Given the description of an element on the screen output the (x, y) to click on. 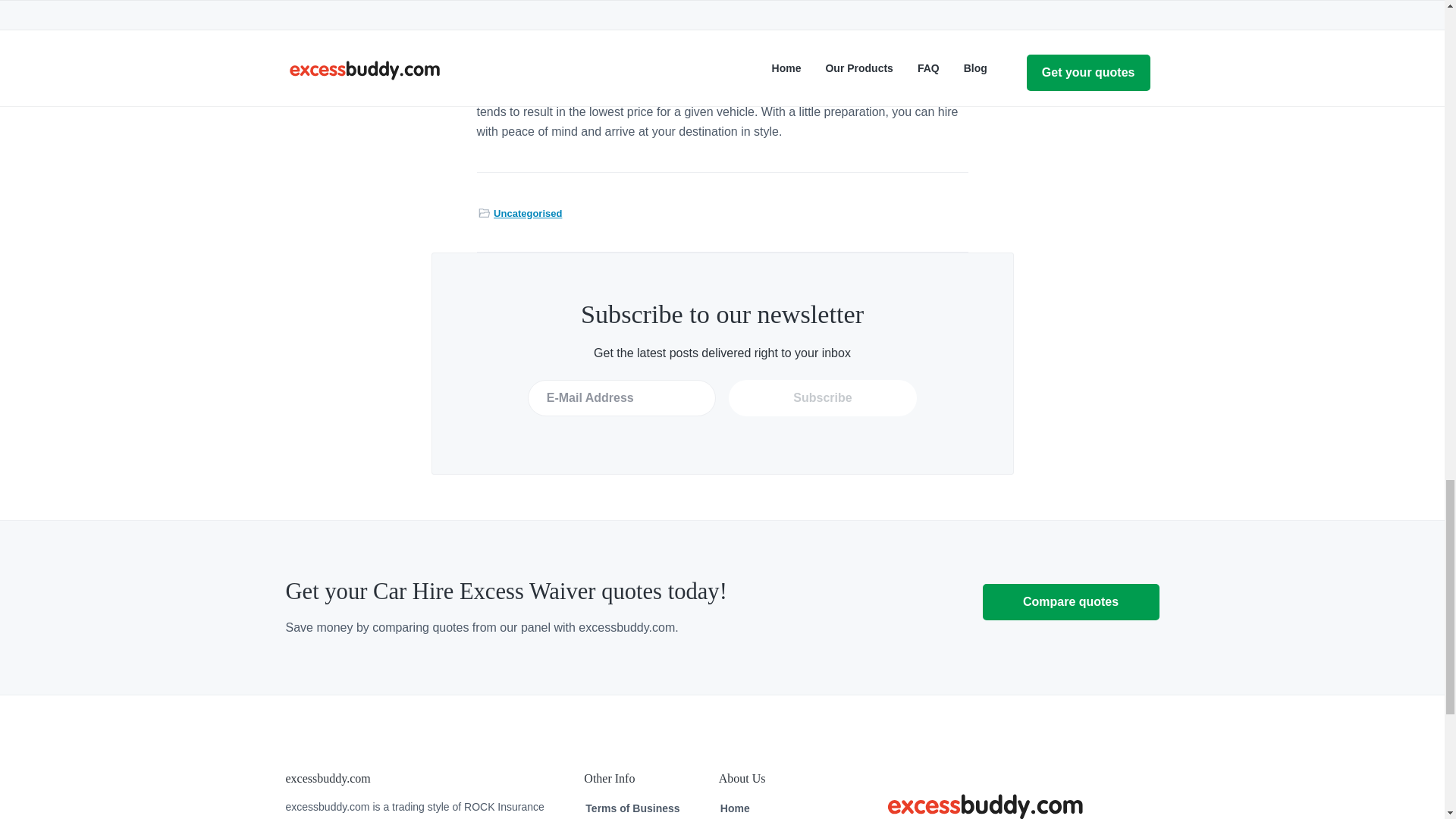
Home (734, 808)
Uncategorised (527, 213)
Subscribe (823, 398)
Compare quotes (1070, 601)
Terms of Business (632, 808)
Subscribe (823, 398)
